Given the description of an element on the screen output the (x, y) to click on. 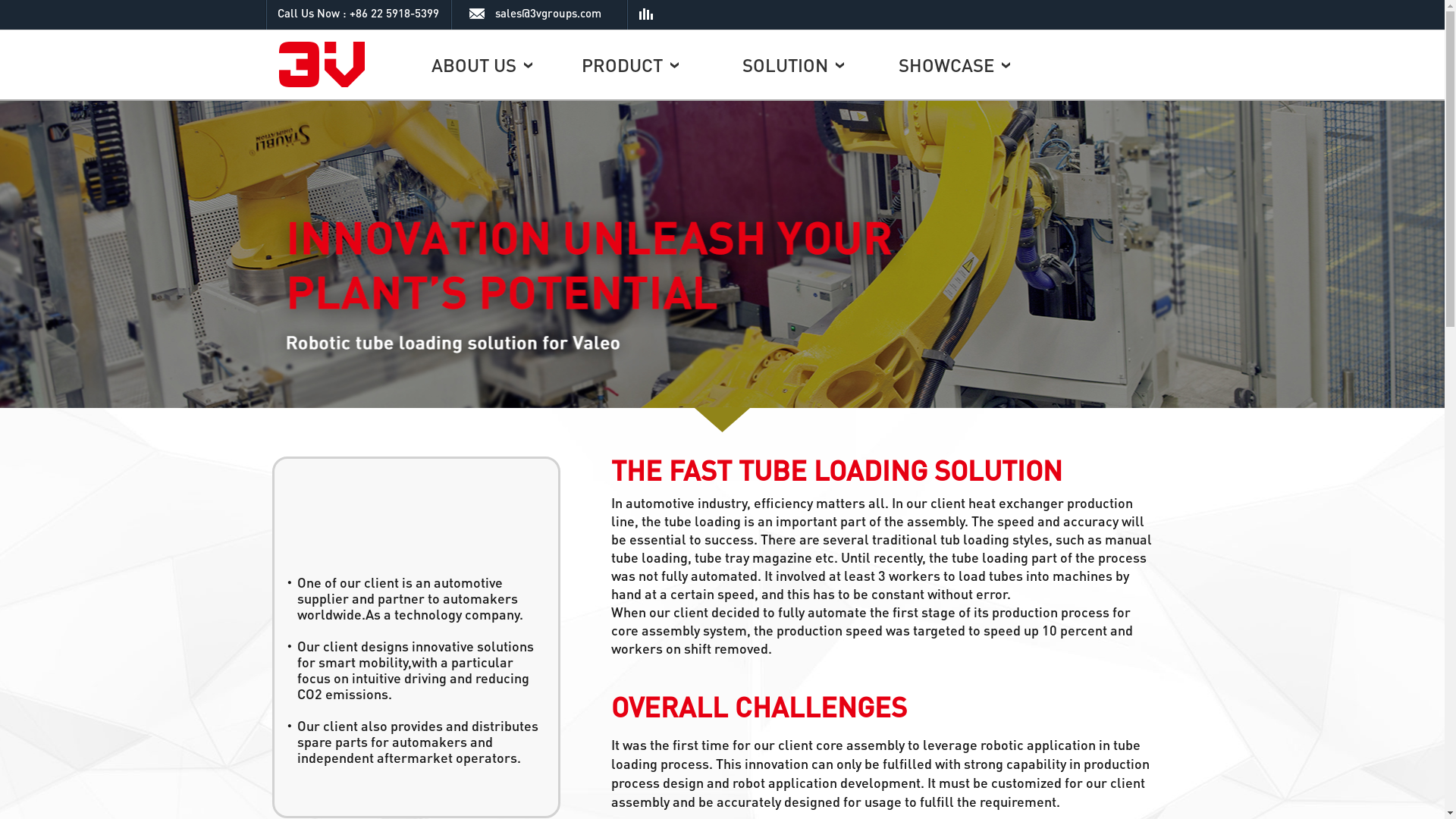
SOLUTION Element type: text (792, 64)
ABOUT US Element type: text (480, 64)
PRODUCT Element type: text (628, 64)
SHOWCASE Element type: text (953, 64)
sales@3vgroups.com Element type: text (538, 12)
